Given the description of an element on the screen output the (x, y) to click on. 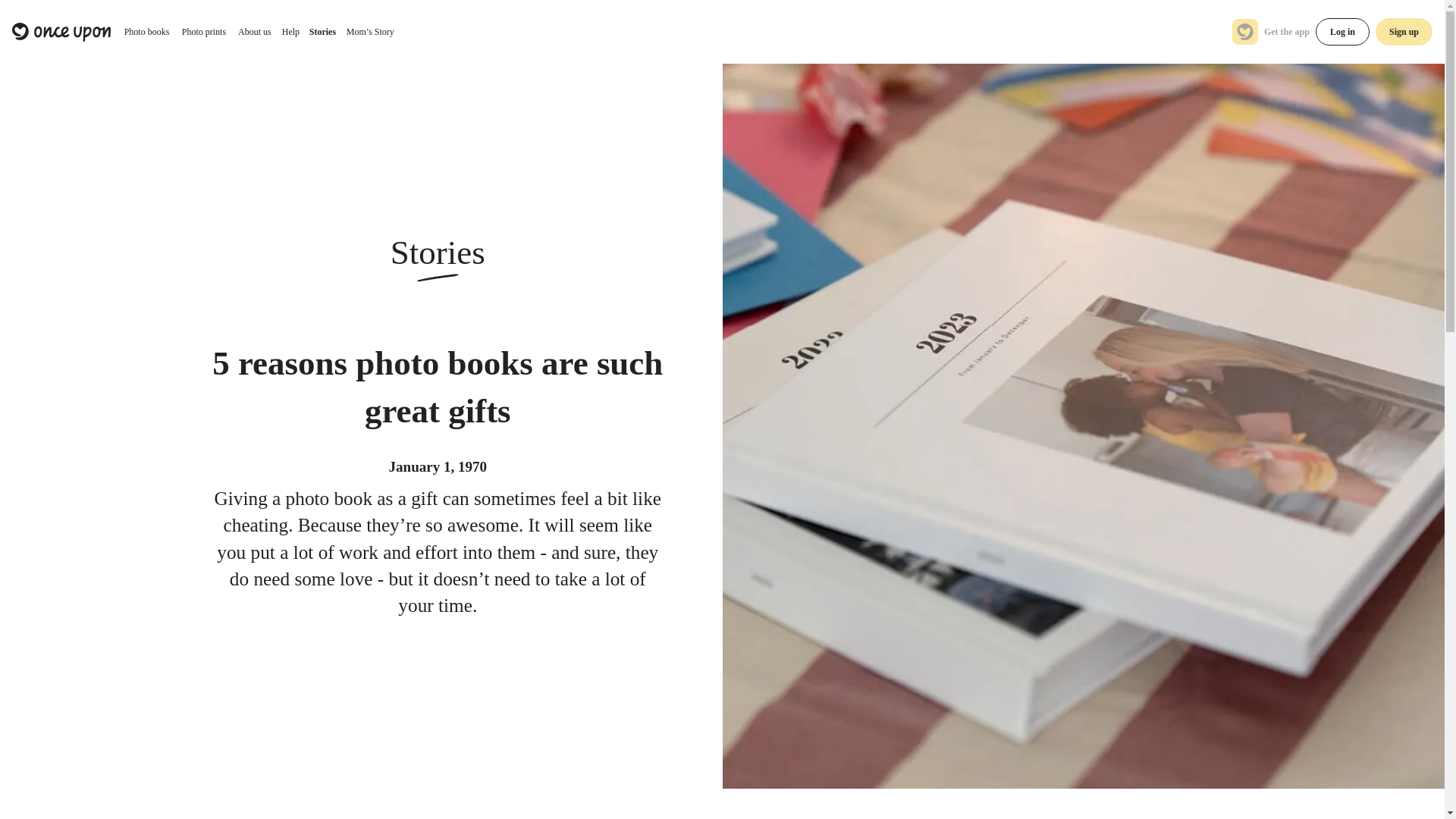
Stories (322, 31)
Photo books (145, 31)
Photo prints (203, 31)
About us (254, 31)
Photo prints (203, 31)
About us (254, 31)
Photo books (145, 31)
Help (290, 31)
Help (290, 31)
Stories (322, 31)
